Given the description of an element on the screen output the (x, y) to click on. 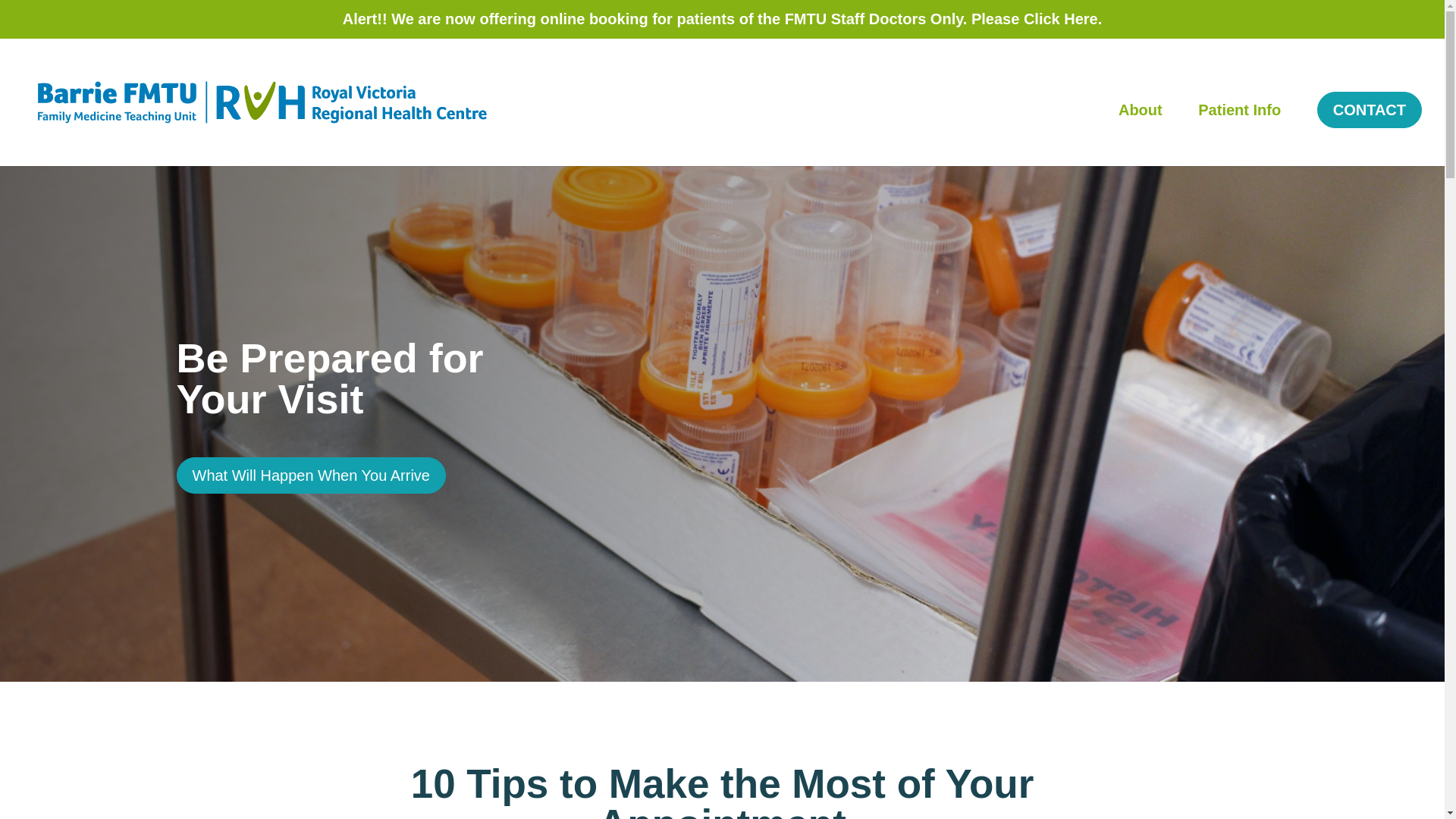
Patient Info (1239, 128)
About (1139, 128)
What Will Happen When You Arrive (310, 475)
CONTACT (1369, 121)
